Given the description of an element on the screen output the (x, y) to click on. 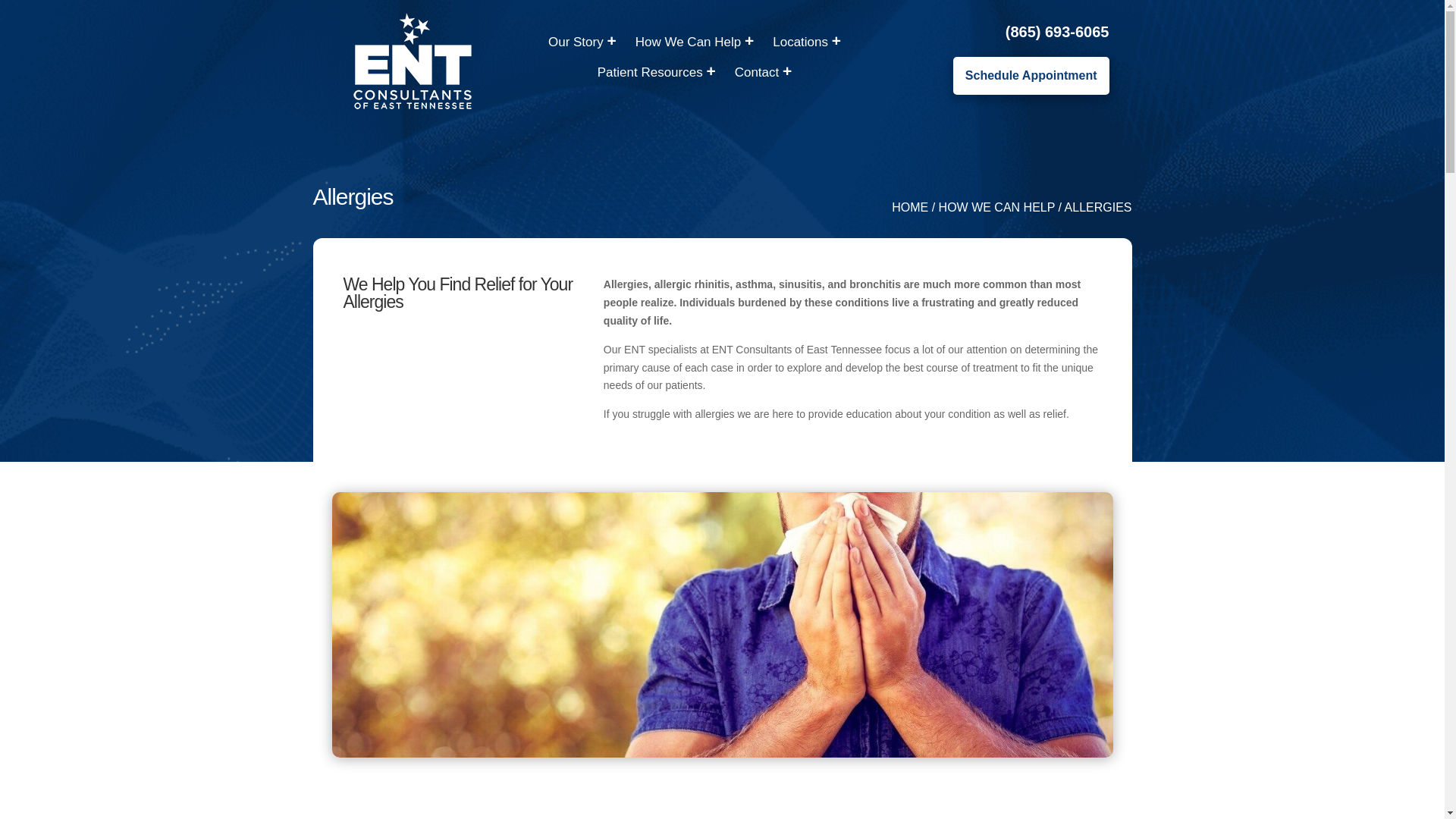
ENT-Consultants-Logo-White (411, 60)
Patient Resources (656, 74)
How We Can Help (695, 44)
Our Story (583, 44)
Locations (808, 44)
